Given the description of an element on the screen output the (x, y) to click on. 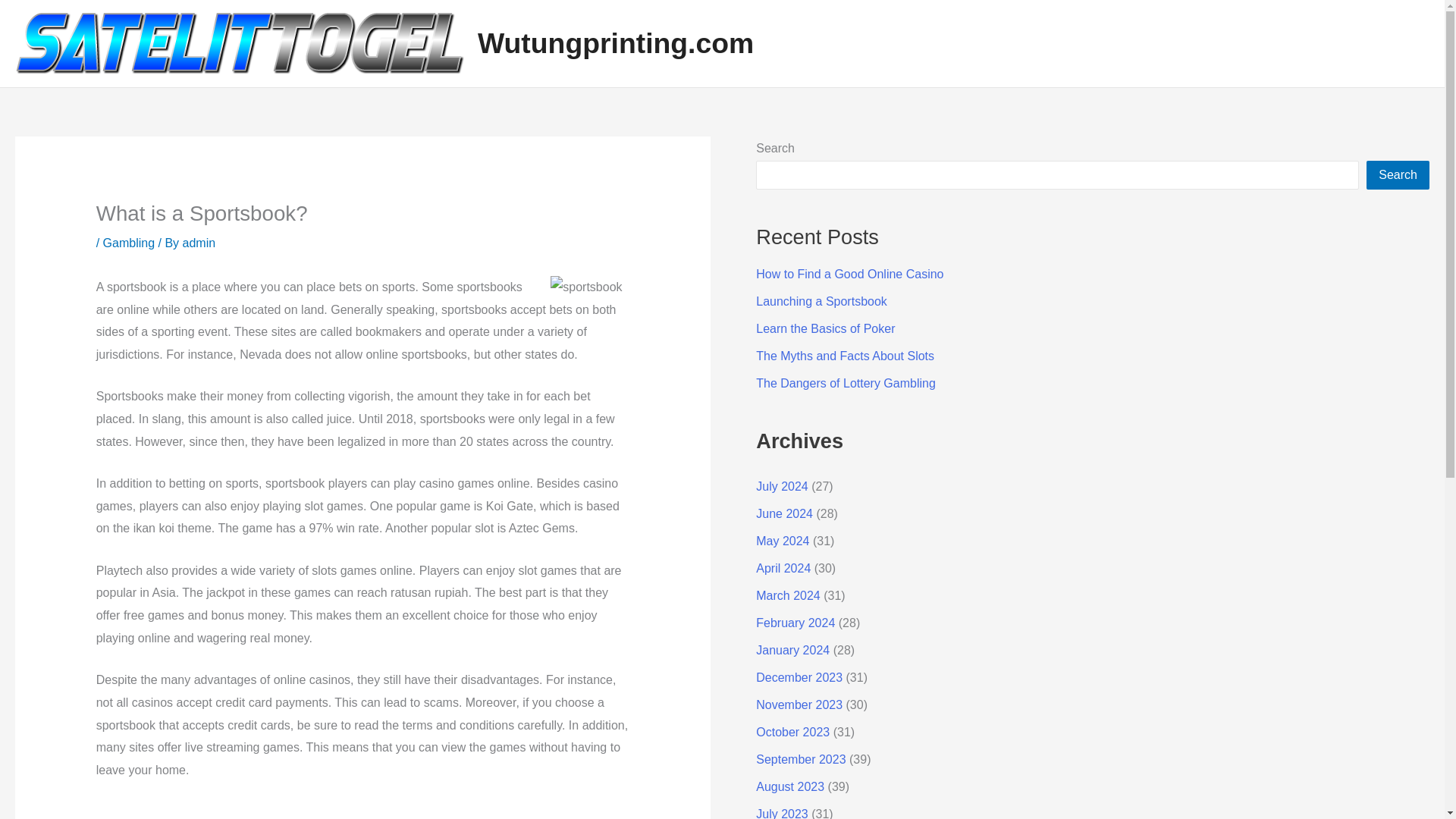
Gambling (128, 242)
June 2024 (783, 513)
February 2024 (794, 622)
November 2023 (799, 704)
July 2024 (781, 486)
October 2023 (792, 731)
The Myths and Facts About Slots (844, 355)
The Dangers of Lottery Gambling (845, 382)
August 2023 (789, 786)
View all posts by admin (199, 242)
December 2023 (799, 676)
March 2024 (788, 594)
April 2024 (782, 567)
Launching a Sportsbook (820, 300)
Search (1398, 174)
